Given the description of an element on the screen output the (x, y) to click on. 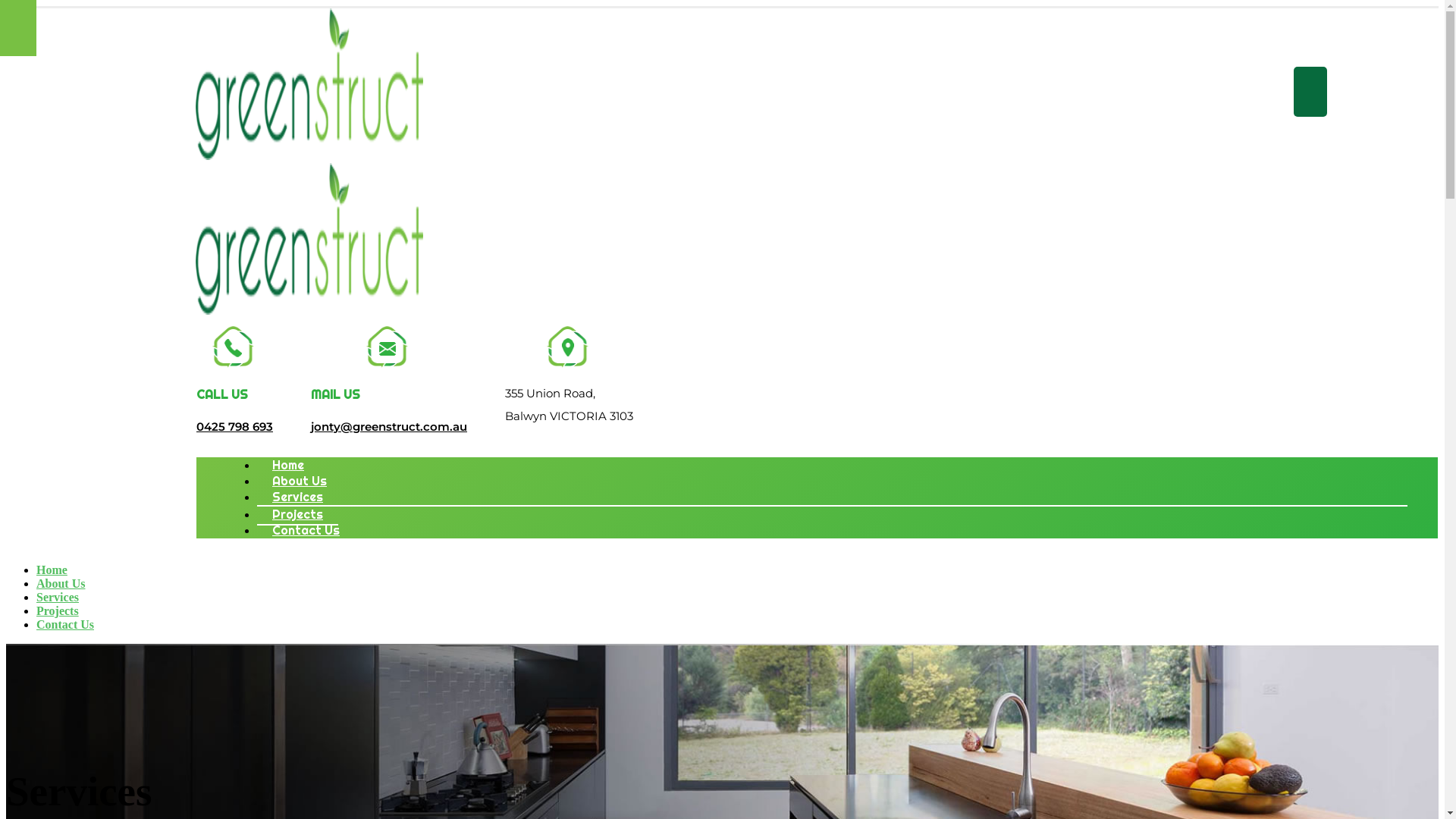
About Us Element type: text (60, 583)
Home Element type: text (288, 465)
About Us Element type: text (299, 481)
Home Element type: text (51, 569)
Services Element type: text (57, 596)
Contact Us Element type: text (65, 624)
Services Element type: text (297, 497)
Projects Element type: text (57, 610)
0425 798 693 Element type: text (234, 426)
Contact Us Element type: text (305, 530)
Greenstruct -  Element type: hover (309, 232)
Facebook Element type: hover (1310, 91)
Projects Element type: text (297, 514)
jonty@greenstruct.com.au Element type: text (388, 426)
